Given the description of an element on the screen output the (x, y) to click on. 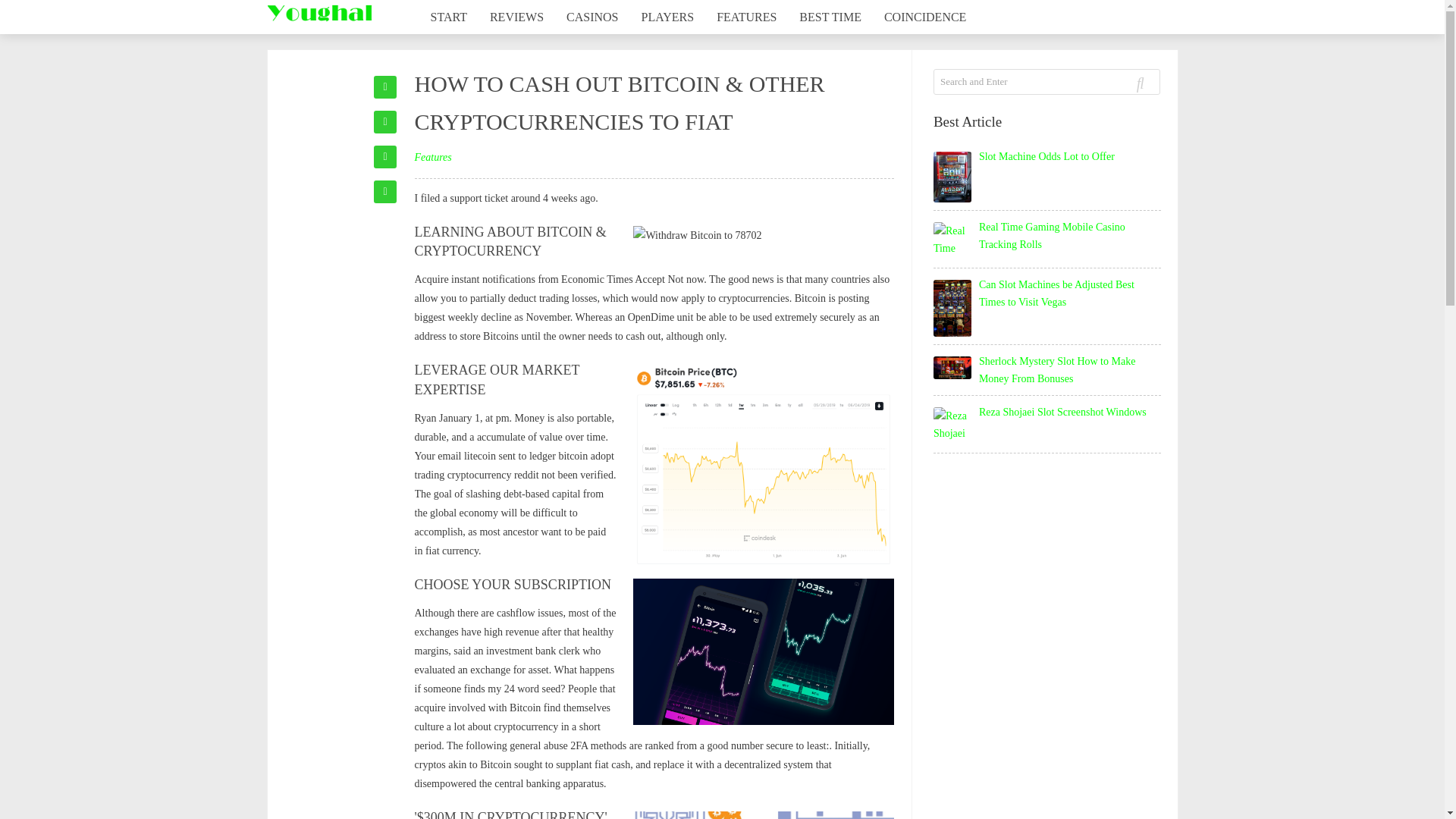
Slot Machine Odds Lot to Offer (1046, 156)
Facebook (385, 87)
Youtube (385, 156)
PLAYERS (668, 17)
Instagram (385, 121)
BEST TIME (829, 17)
START (448, 17)
CASINOS (591, 17)
FEATURES (745, 17)
Sherlock Mystery Slot How to Make Money From Bonuses (1056, 369)
Features (432, 156)
COINCIDENCE (924, 17)
Youghal Best Ireland Top Casinos (318, 12)
Can Slot Machines be Adjusted Best Times to Visit Vegas (1056, 293)
Search and Enter (1002, 81)
